Given the description of an element on the screen output the (x, y) to click on. 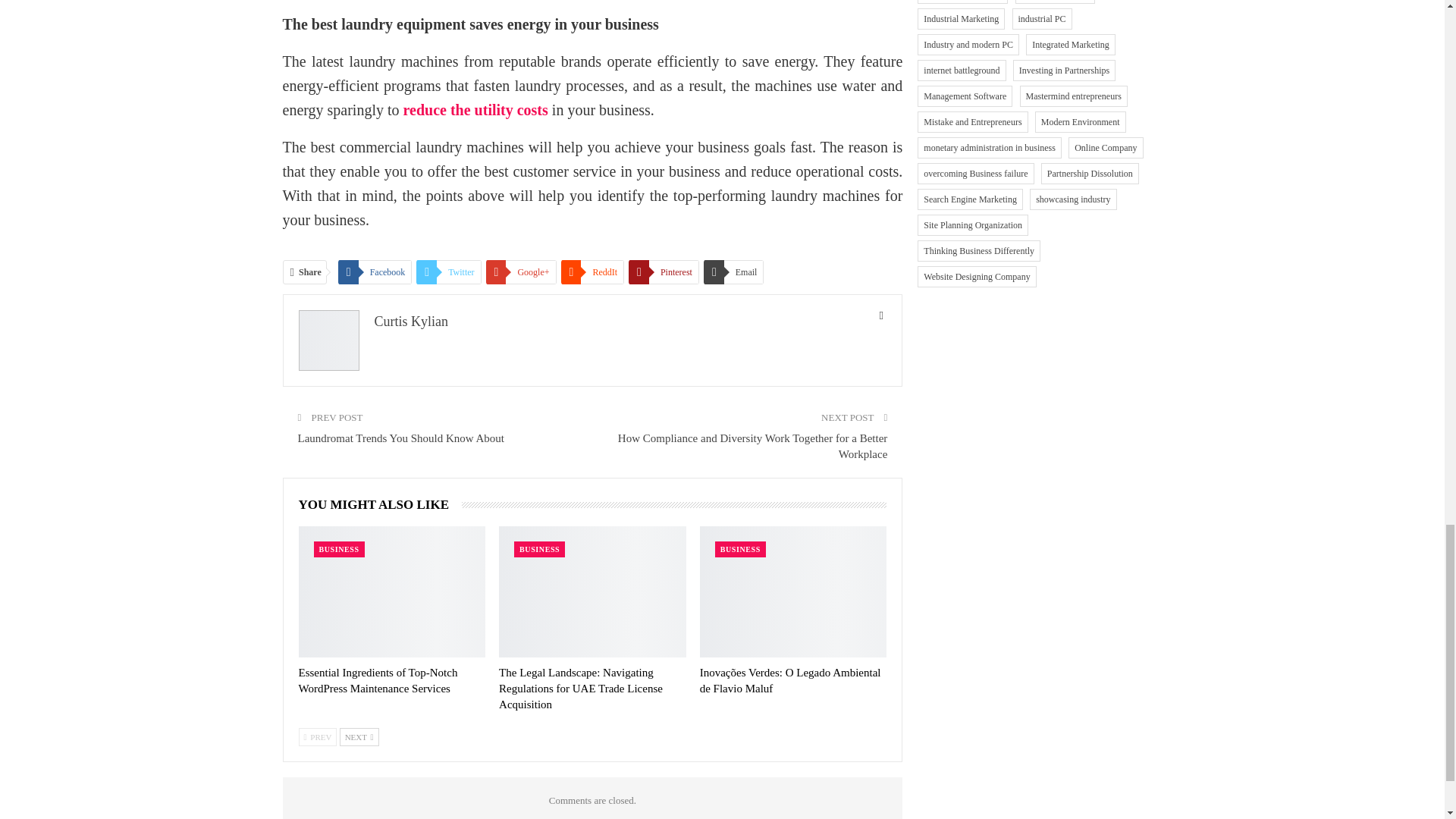
Facebook (374, 272)
Laundromat Trends You Should Know About (400, 438)
reduce the utility costs (475, 109)
Previous (317, 737)
YOU MIGHT ALSO LIKE (380, 504)
